Given the description of an element on the screen output the (x, y) to click on. 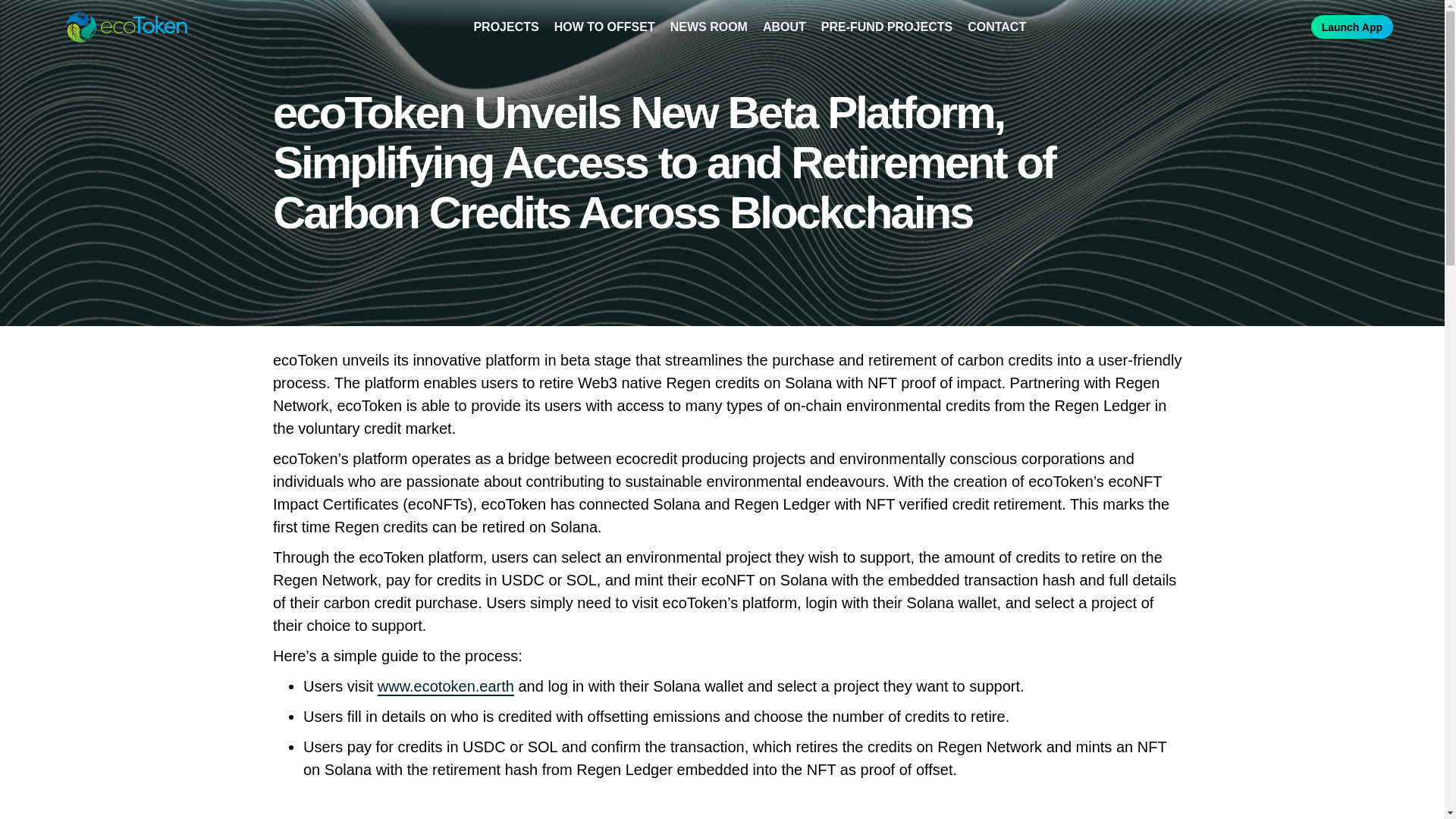
www.ecotoken.earth (445, 686)
ABOUT (784, 27)
CONTACT (997, 27)
HOW TO OFFSET (604, 27)
Launch App (1352, 26)
PRE-FUND PROJECTS (886, 27)
PROJECTS (505, 27)
NEWS ROOM (708, 27)
